Given the description of an element on the screen output the (x, y) to click on. 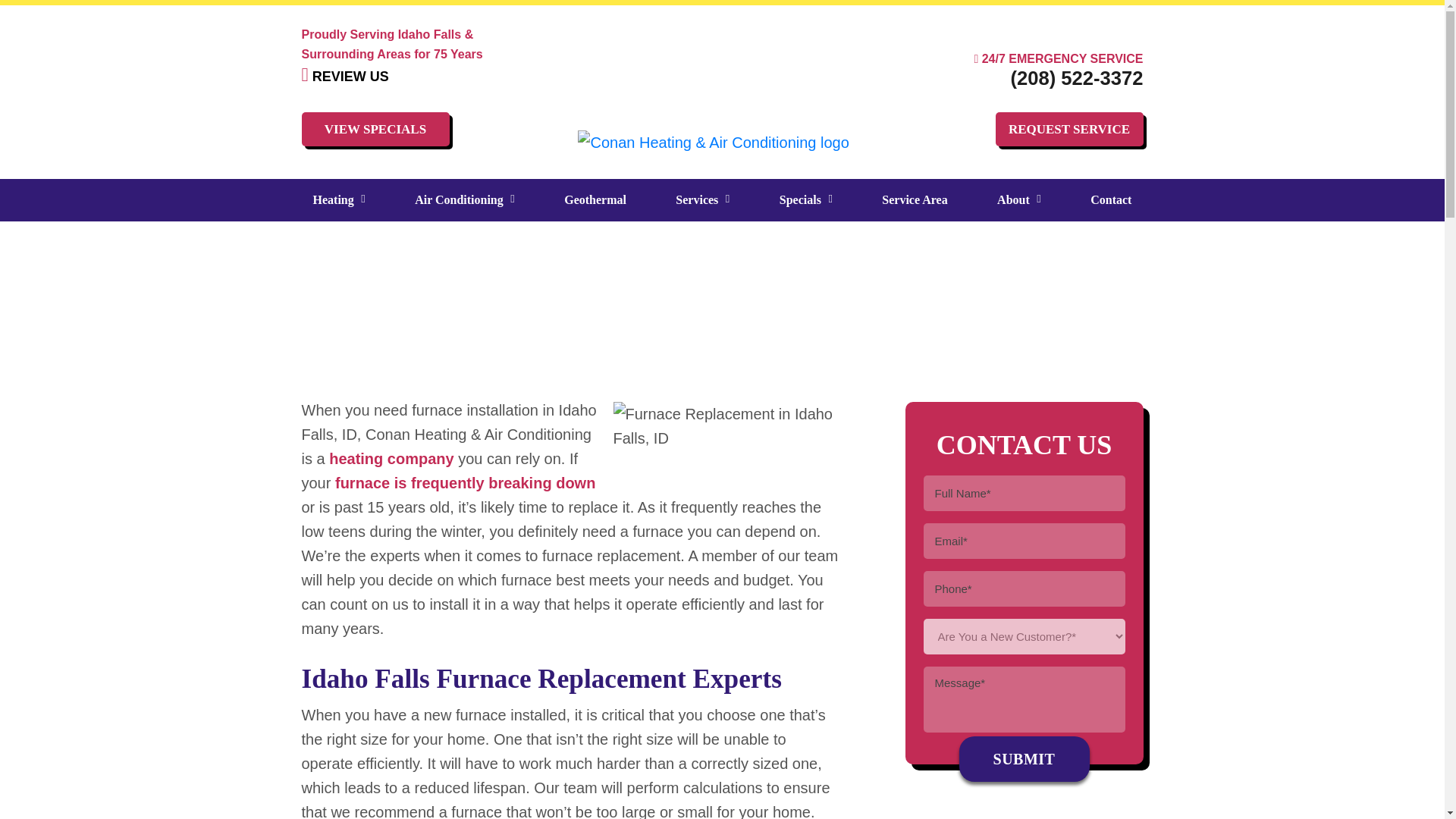
Air Conditioning (464, 200)
 REVIEW US (344, 76)
REQUEST SERVICE (1068, 129)
Service Area (914, 200)
Specials (806, 200)
VIEW SPECIALS (375, 129)
Geothermal (595, 200)
Submit (1023, 759)
About (1018, 200)
Services (702, 200)
